Given the description of an element on the screen output the (x, y) to click on. 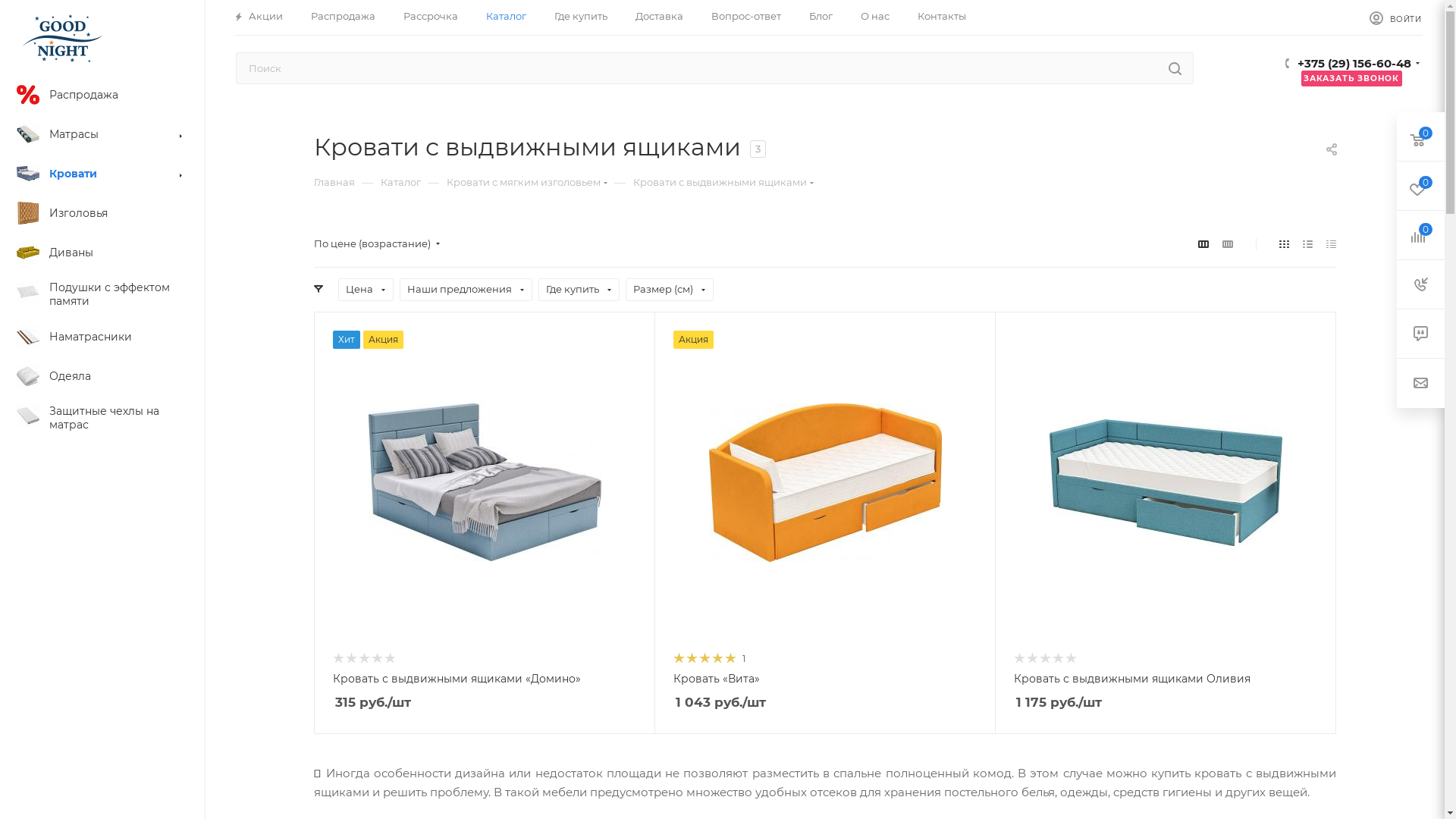
+375 (29) 156-60-48 Element type: text (1354, 65)
goodnight.by Element type: hover (62, 38)
